Given the description of an element on the screen output the (x, y) to click on. 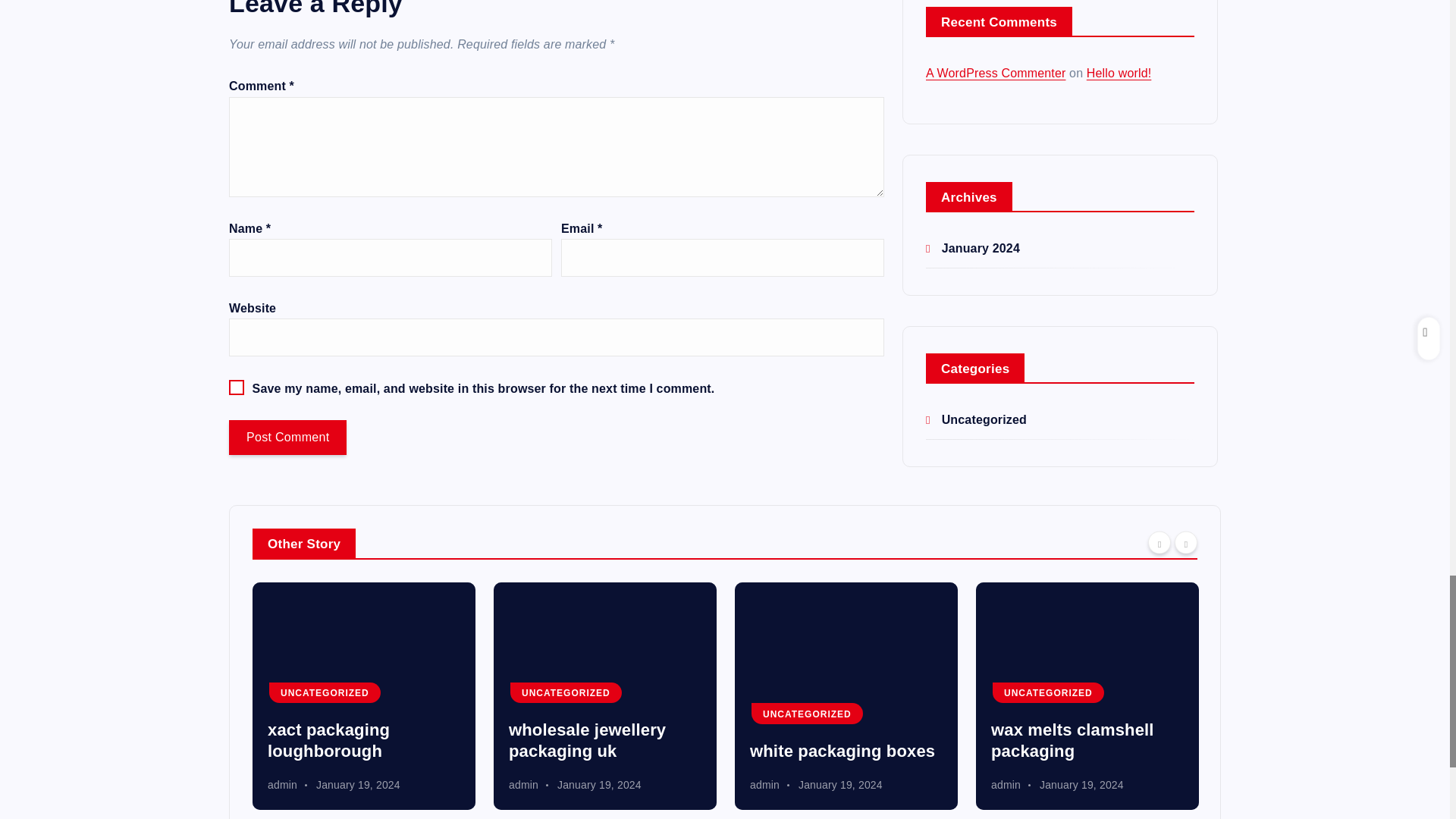
yes (236, 387)
Post Comment (287, 437)
Post Comment (287, 437)
